Given the description of an element on the screen output the (x, y) to click on. 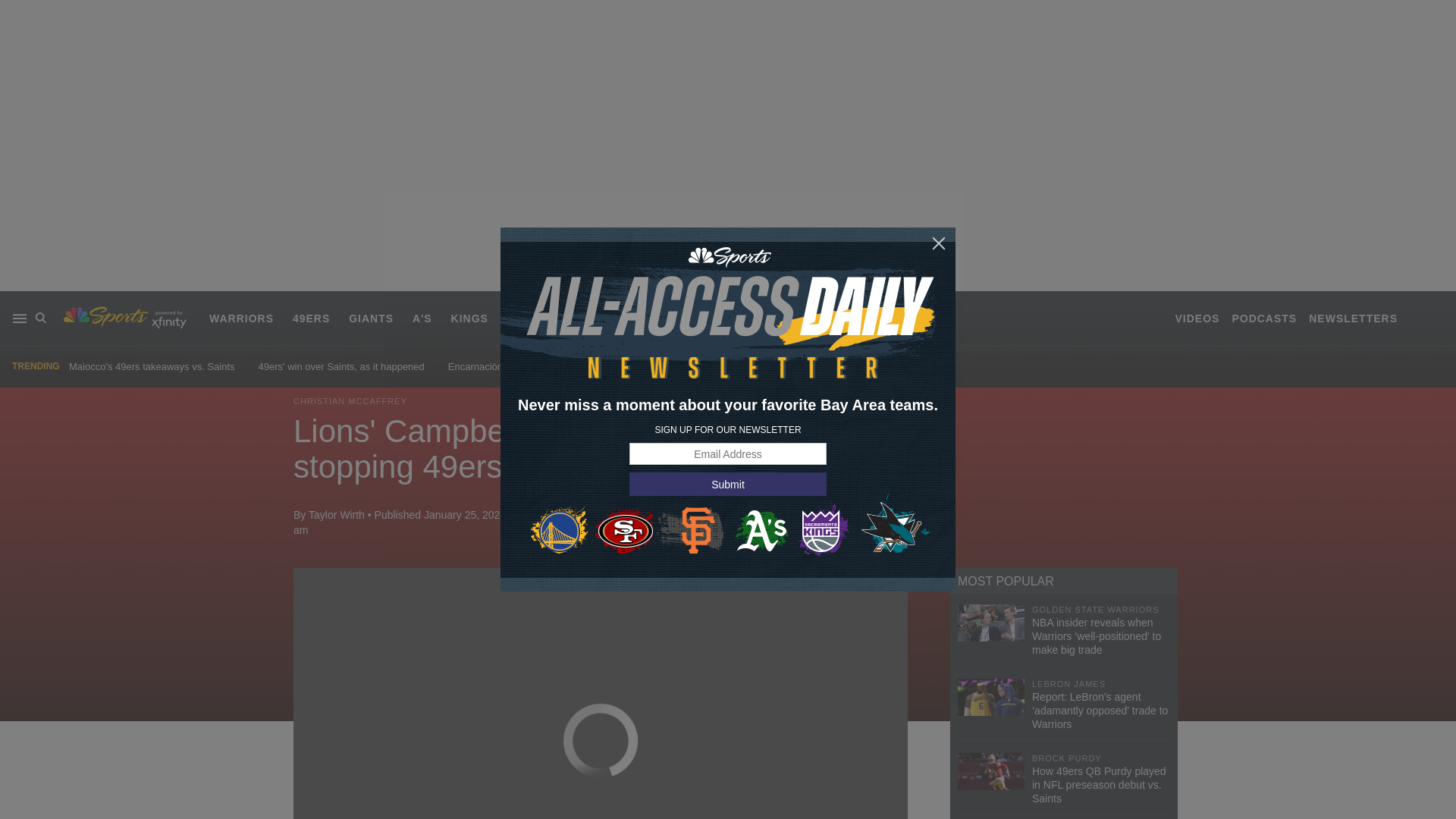
49ERS (311, 318)
SHARKS (531, 318)
CHRISTIAN MCCAFFREY (350, 401)
A'S (422, 318)
KINGS (469, 318)
LeBron's agent reportedly opposed Warriors trade (776, 366)
VIDEOS (1197, 318)
Maiocco's 49ers takeaways vs. Saints (151, 366)
PODCASTS (1264, 318)
NEWSLETTERS (1352, 318)
